Given the description of an element on the screen output the (x, y) to click on. 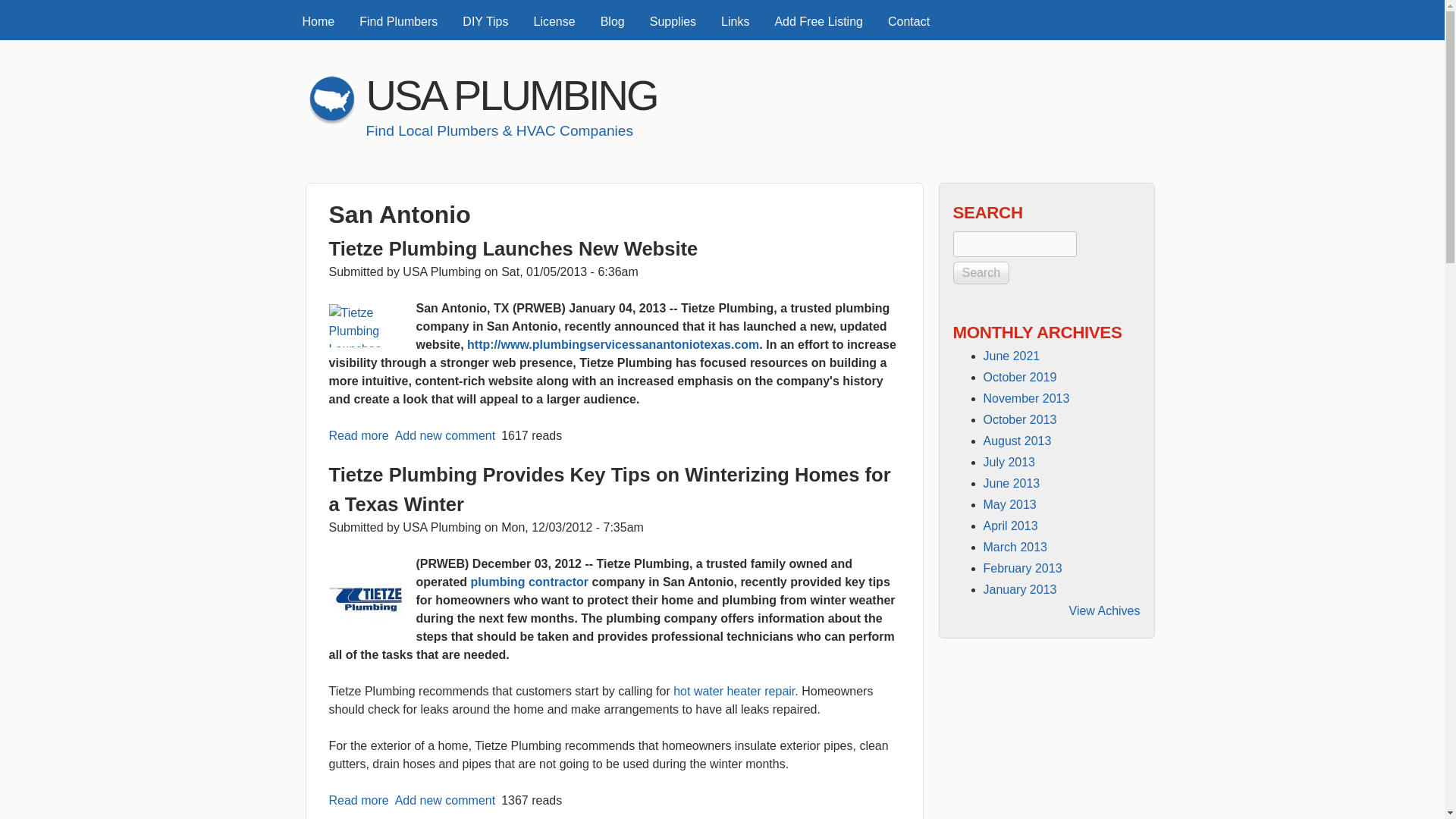
Contact us (909, 22)
Home (317, 22)
Find Plumbers (398, 22)
USA PLUMBING (510, 94)
Plumbing Blog (612, 22)
Find a Plumber (398, 22)
USA Plumbing (317, 22)
Home page (331, 121)
Plumbing Tips (484, 22)
Add a new comment to this page. (445, 799)
